Given the description of an element on the screen output the (x, y) to click on. 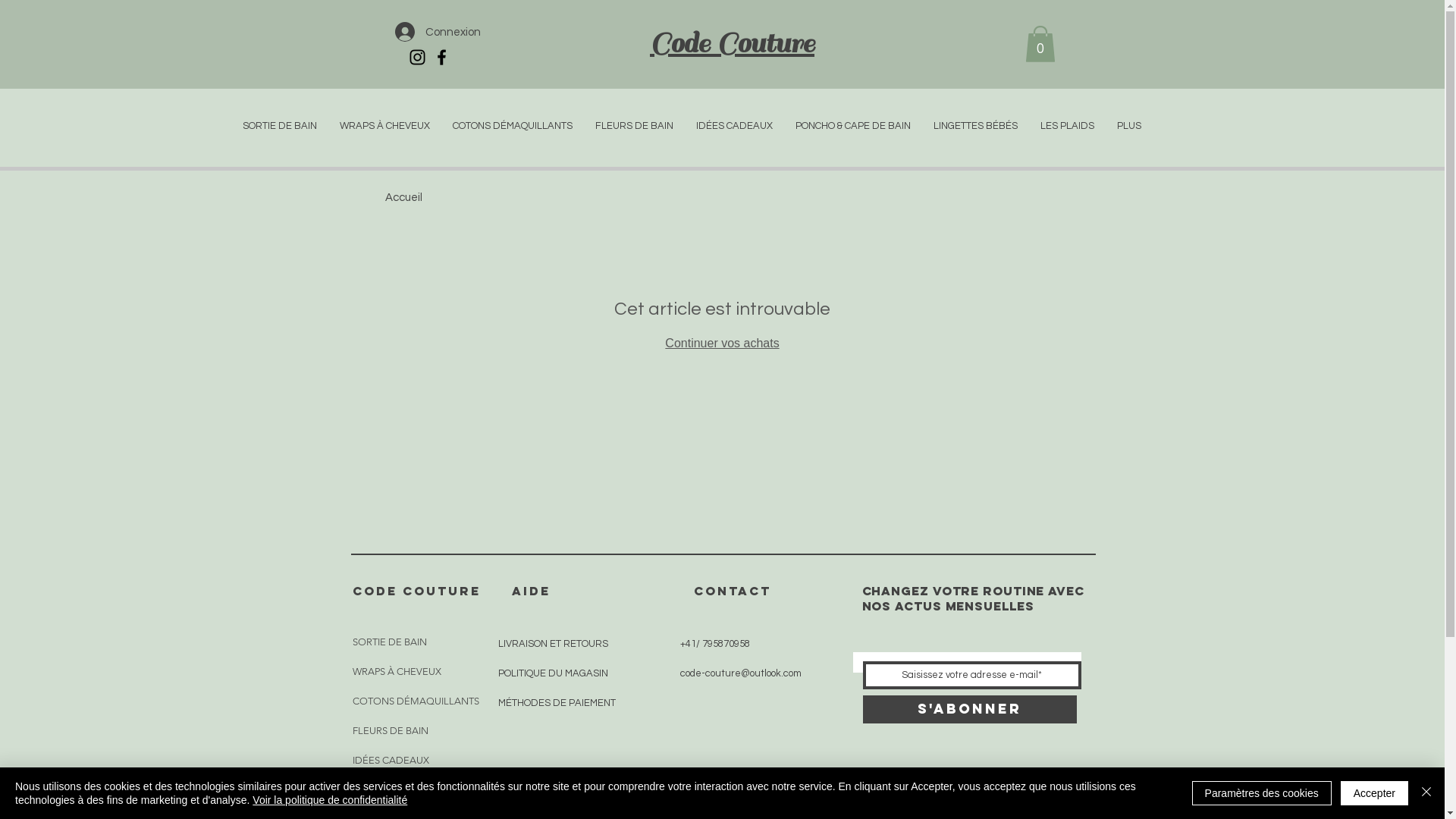
S'abonner Element type: text (969, 709)
LES PLAIDS Element type: text (1066, 125)
PONCHO & CAPE DE BAIN Element type: text (853, 125)
PONCHO & CAPE DE BAIN Element type: text (399, 789)
code-couture@outlook.com Element type: text (739, 673)
SORTIE DE BAIN Element type: text (278, 125)
0 Element type: text (1040, 43)
Code Couture Element type: text (731, 42)
FLEURS DE BAIN Element type: text (399, 730)
SORTIE DE BAIN Element type: text (399, 641)
FLEURS DE BAIN Element type: text (633, 125)
Accueil Element type: text (403, 197)
Accepter Element type: text (1374, 793)
Connexion Element type: text (436, 31)
LIVRAISON ET RETOURS Element type: text (552, 643)
POLITIQUE DU MAGASIN Element type: text (552, 673)
Continuer vos achats Element type: text (721, 342)
